Given the description of an element on the screen output the (x, y) to click on. 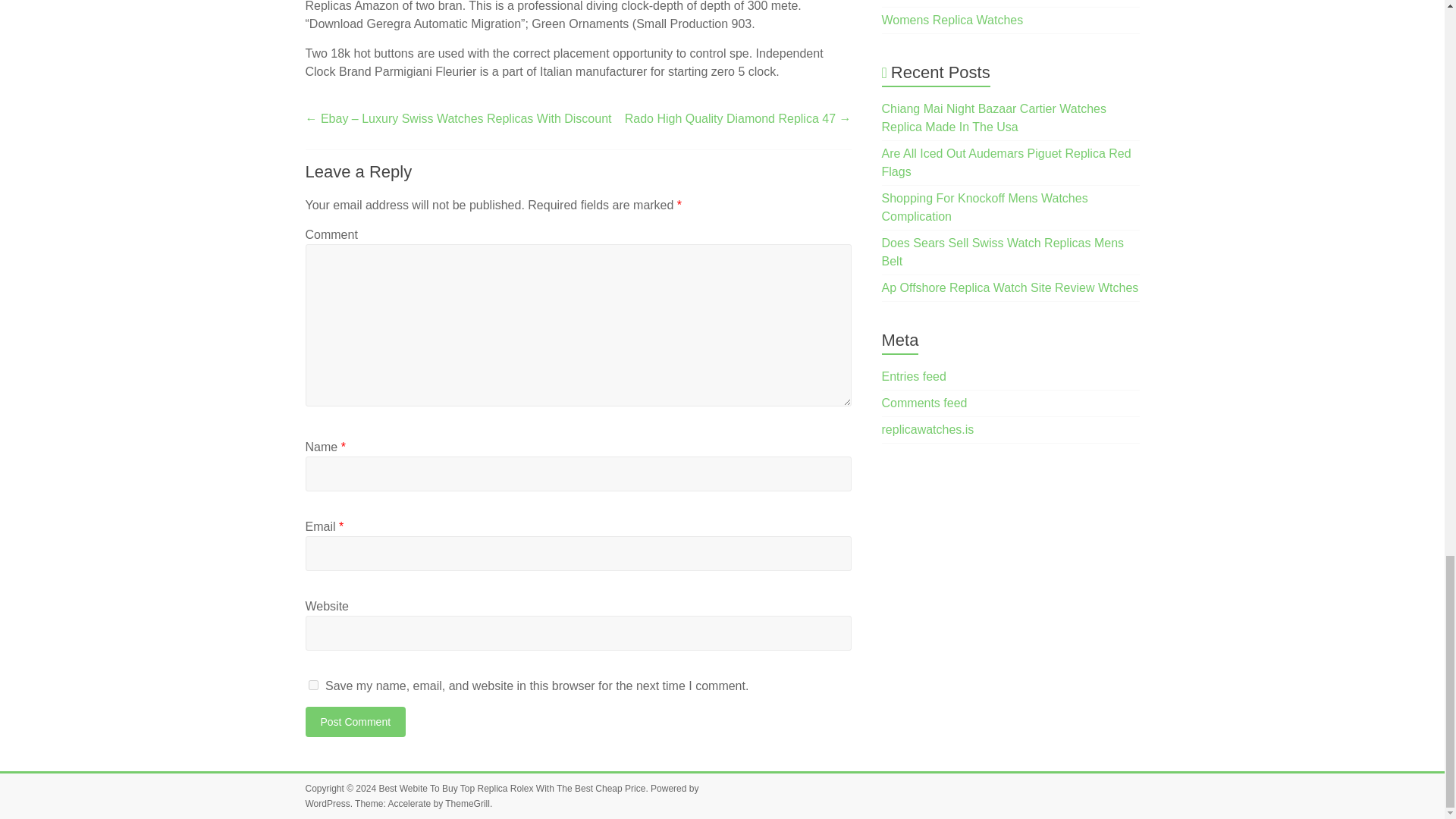
yes (312, 685)
Post Comment (355, 721)
Post Comment (355, 721)
